Given the description of an element on the screen output the (x, y) to click on. 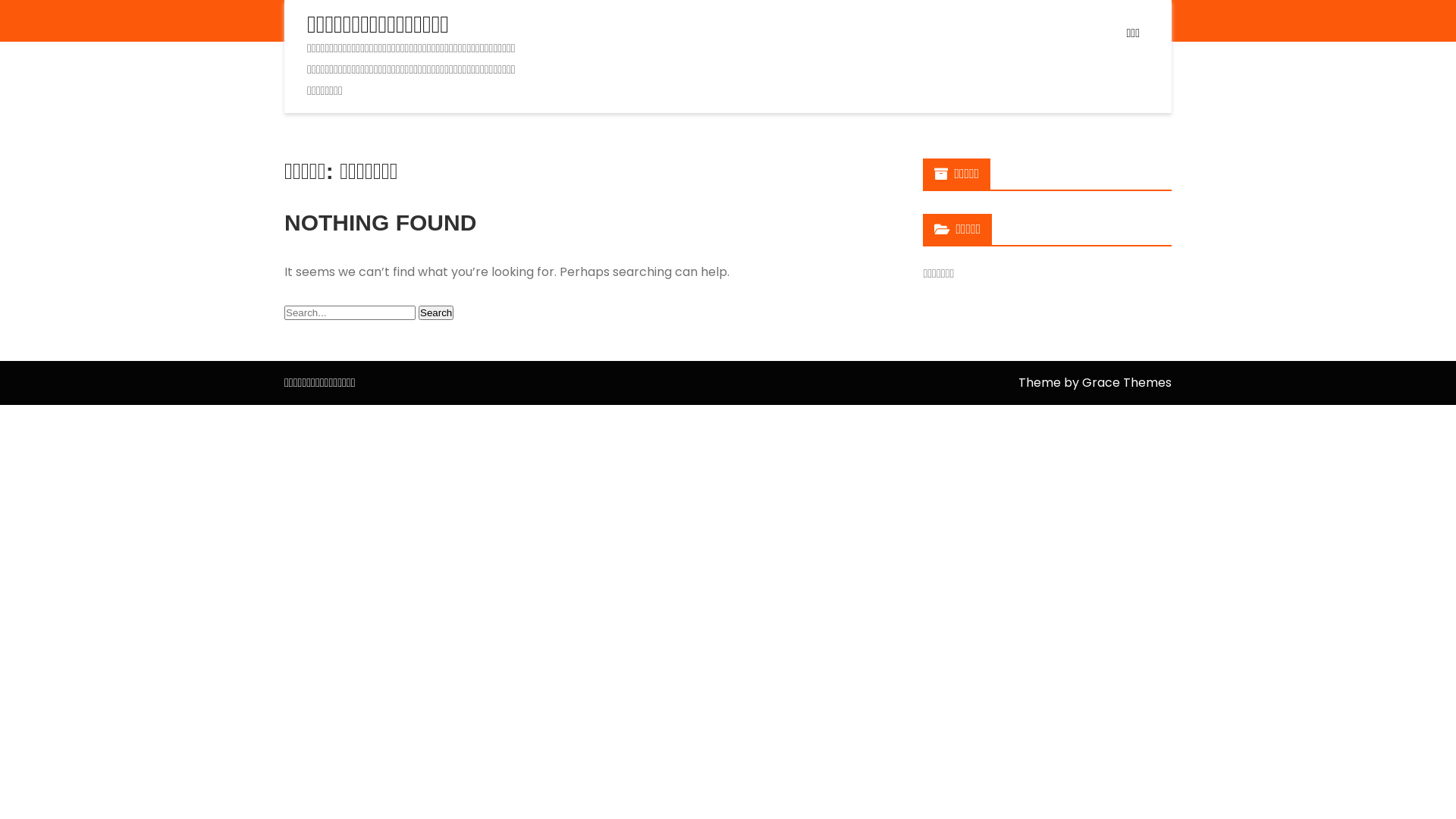
Search Element type: text (435, 312)
